Given the description of an element on the screen output the (x, y) to click on. 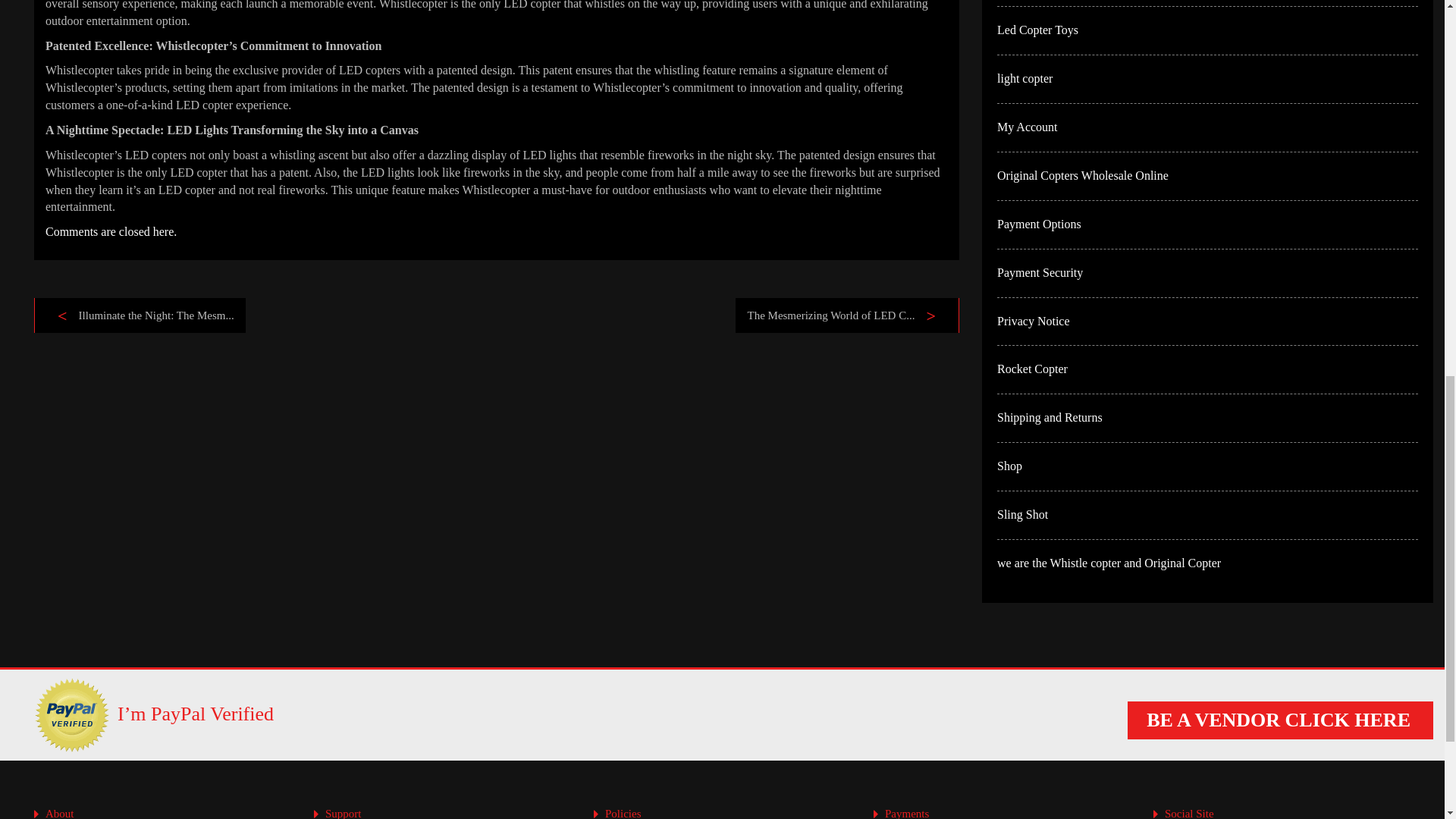
Payment Security (1040, 272)
BE A VENDOR CLICK HERE (1279, 720)
light copter (1024, 78)
Shop (1009, 465)
Rocket Copter (1032, 368)
Sling Shot (1022, 513)
Shipping and Returns (1049, 417)
Original Copters Wholesale Online (1083, 174)
we are the Whistle copter and Original Copter (1109, 562)
Led Copter Toys (1037, 29)
Payment Options (1039, 223)
My Account (1027, 126)
Privacy Notice (1033, 319)
About (59, 813)
